Given the description of an element on the screen output the (x, y) to click on. 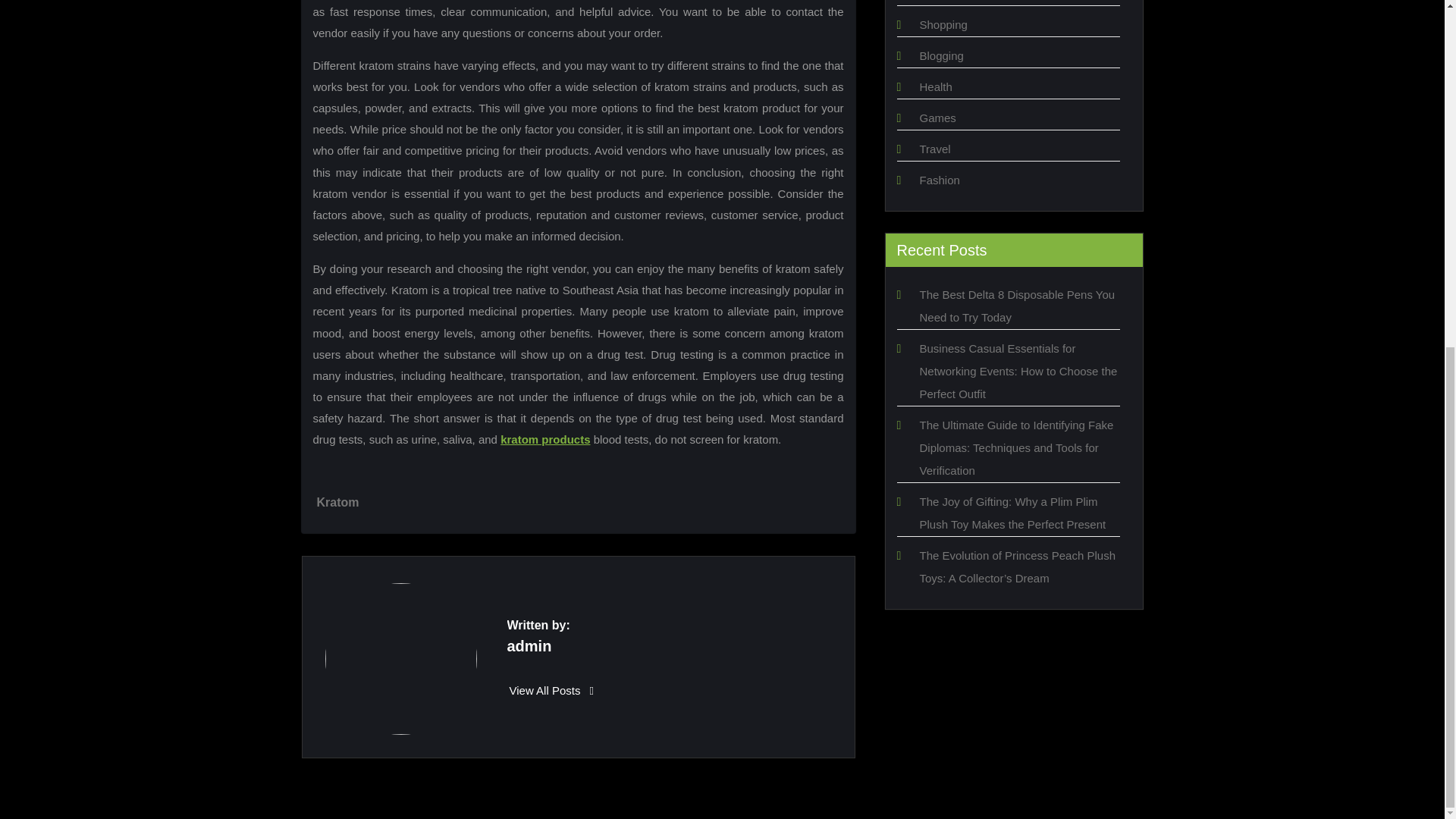
The Best Delta 8 Disposable Pens You Need to Try Today (1016, 305)
View All Posts (551, 689)
Blogging (940, 55)
Travel (934, 148)
Kratom (338, 502)
Health (935, 86)
kratom products (544, 439)
Fashion (938, 179)
Shopping (942, 24)
Games (936, 117)
